Given the description of an element on the screen output the (x, y) to click on. 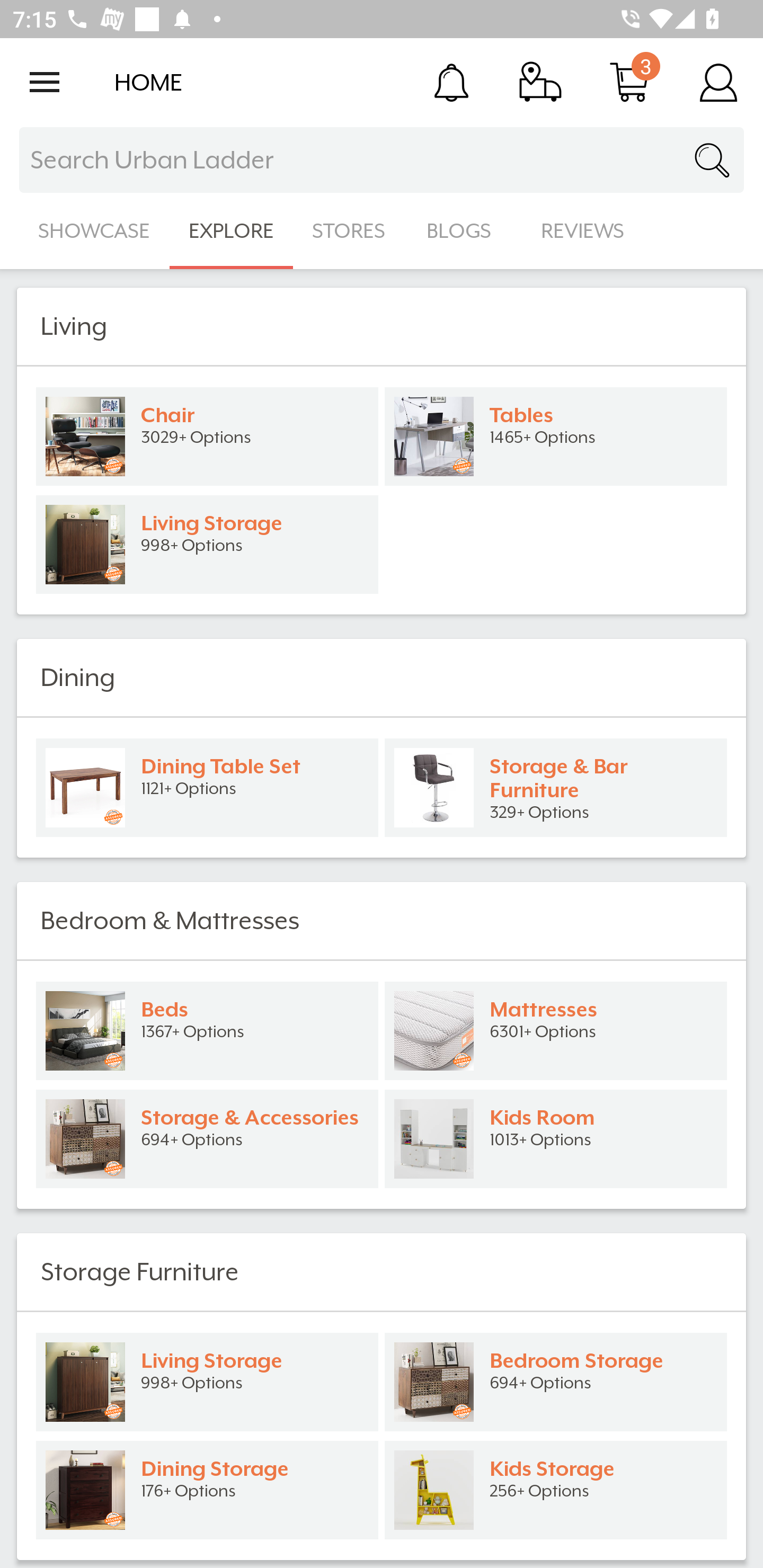
Open navigation drawer (44, 82)
Notification (450, 81)
Track Order (540, 81)
Cart (629, 81)
Account Details (718, 81)
Search Urban Ladder  (381, 159)
SHOWCASE (94, 230)
EXPLORE (230, 230)
STORES (349, 230)
BLOGS (464, 230)
REVIEWS (582, 230)
Chair 3029+ Options (206, 436)
Tables 1465+ Options (555, 436)
Living Storage 998+ Options (206, 544)
Dining Table Set 1121+ Options (206, 787)
Storage & Bar Furniture 329+ Options (555, 787)
Beds 1367+ Options (206, 1030)
Mattresses 6301+ Options (555, 1030)
Storage & Accessories 694+ Options (206, 1139)
Kids Room 1013+ Options (555, 1139)
Living Storage 998+ Options (206, 1382)
Bedroom Storage 694+ Options (555, 1382)
Dining Storage 176+ Options (206, 1490)
Kids Storage 256+ Options (555, 1490)
